Given the description of an element on the screen output the (x, y) to click on. 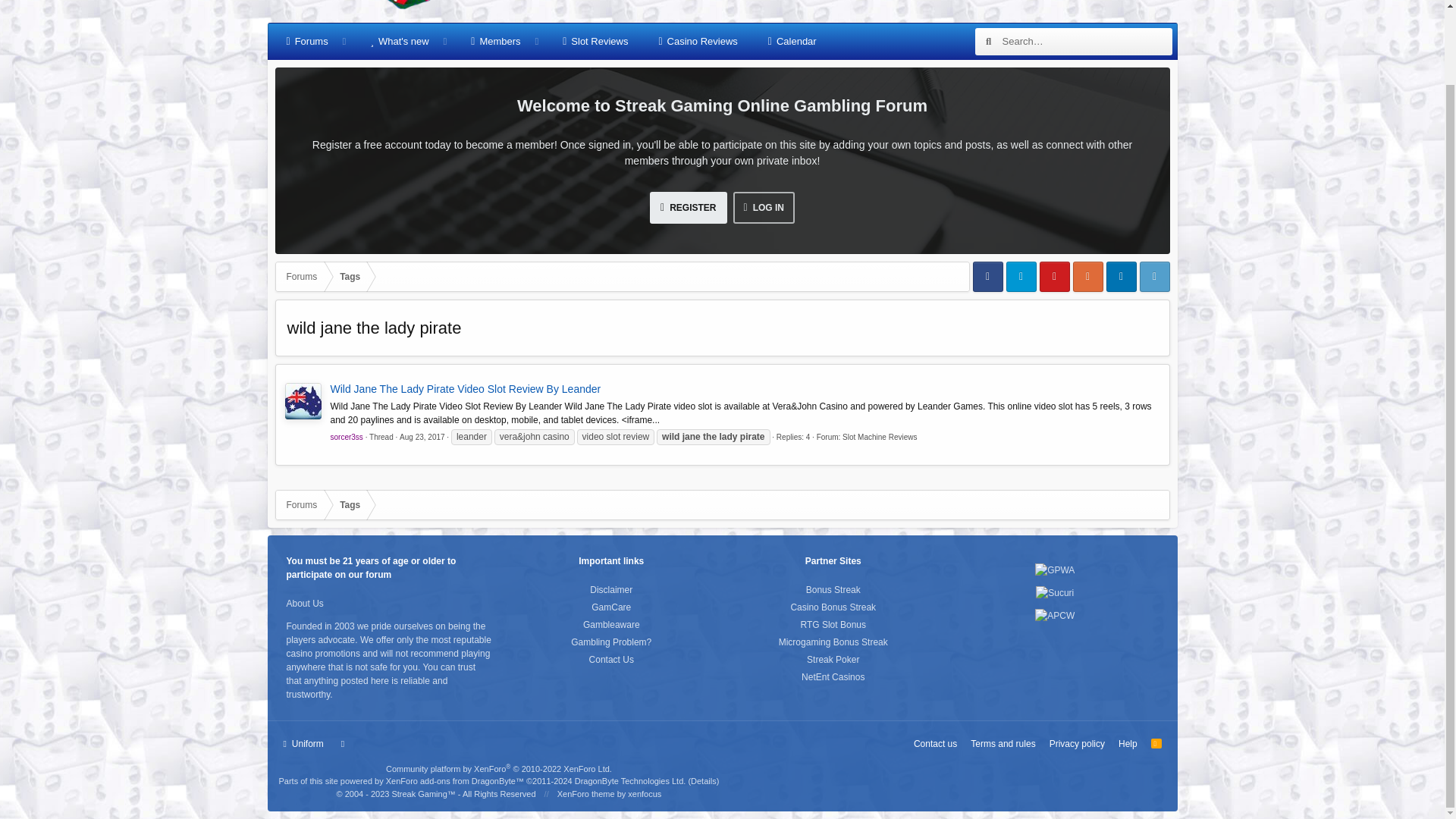
REGISTER (687, 207)
What's new (399, 41)
Aug 23, 2017 at 6:09 AM (421, 437)
Calendar (791, 41)
Members (495, 41)
Slot Reviews (595, 41)
Casino Reviews (697, 41)
LOG IN (762, 207)
